Given the description of an element on the screen output the (x, y) to click on. 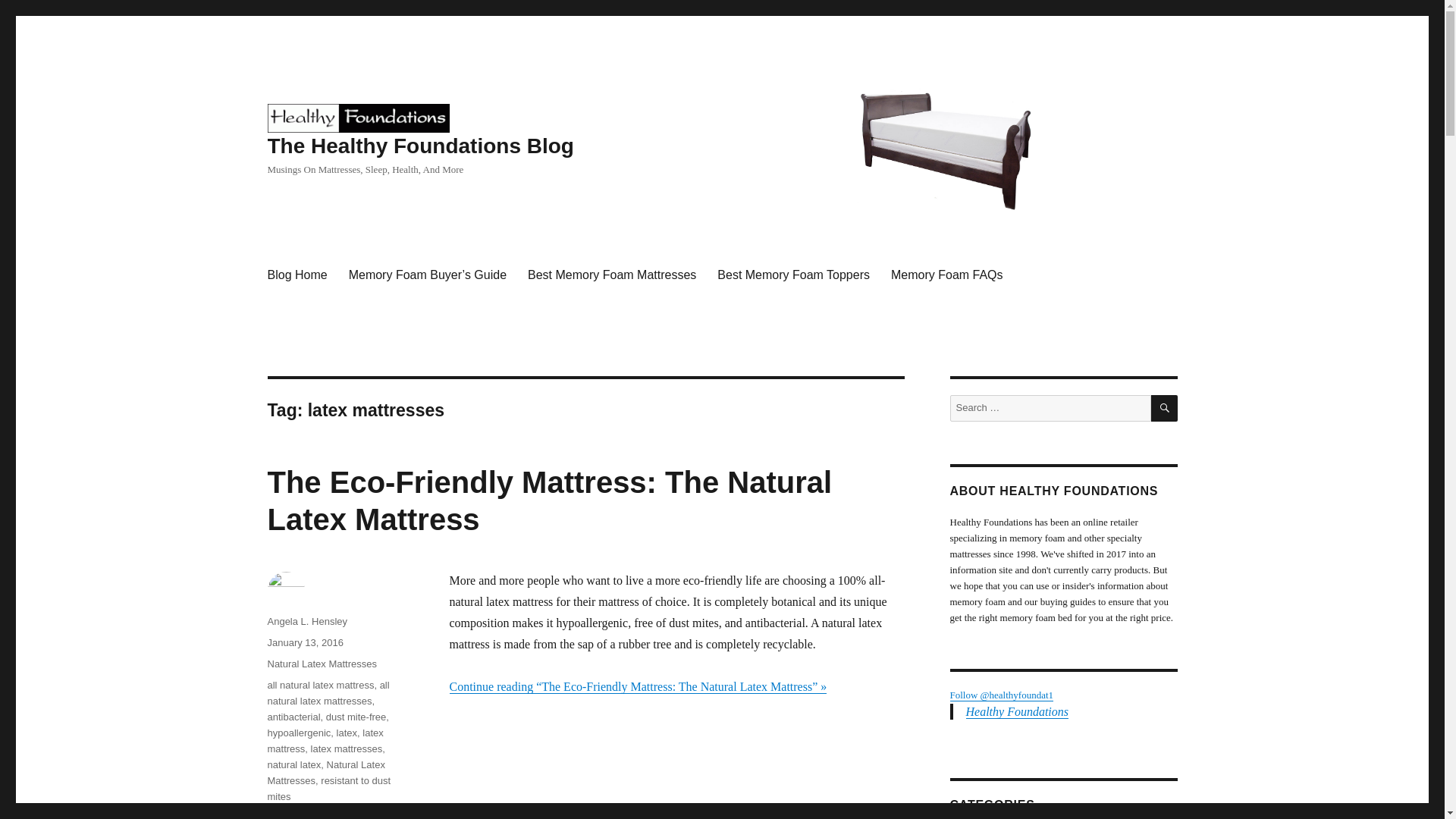
Blog Home (296, 275)
Memory Foam FAQs (946, 275)
latex mattresses (346, 748)
Natural Latex Mattresses (325, 772)
Natural Latex Mattresses (321, 663)
natural latex (293, 764)
The Healthy Foundations Blog (357, 116)
Angela L. Hensley (306, 621)
dust mite-free (355, 716)
The Eco-Friendly Mattress: The Natural Latex Mattress (548, 501)
latex (346, 732)
Best Memory Foam Toppers (793, 275)
hypoallergenic (298, 732)
all natural latex mattress (320, 685)
